Given the description of an element on the screen output the (x, y) to click on. 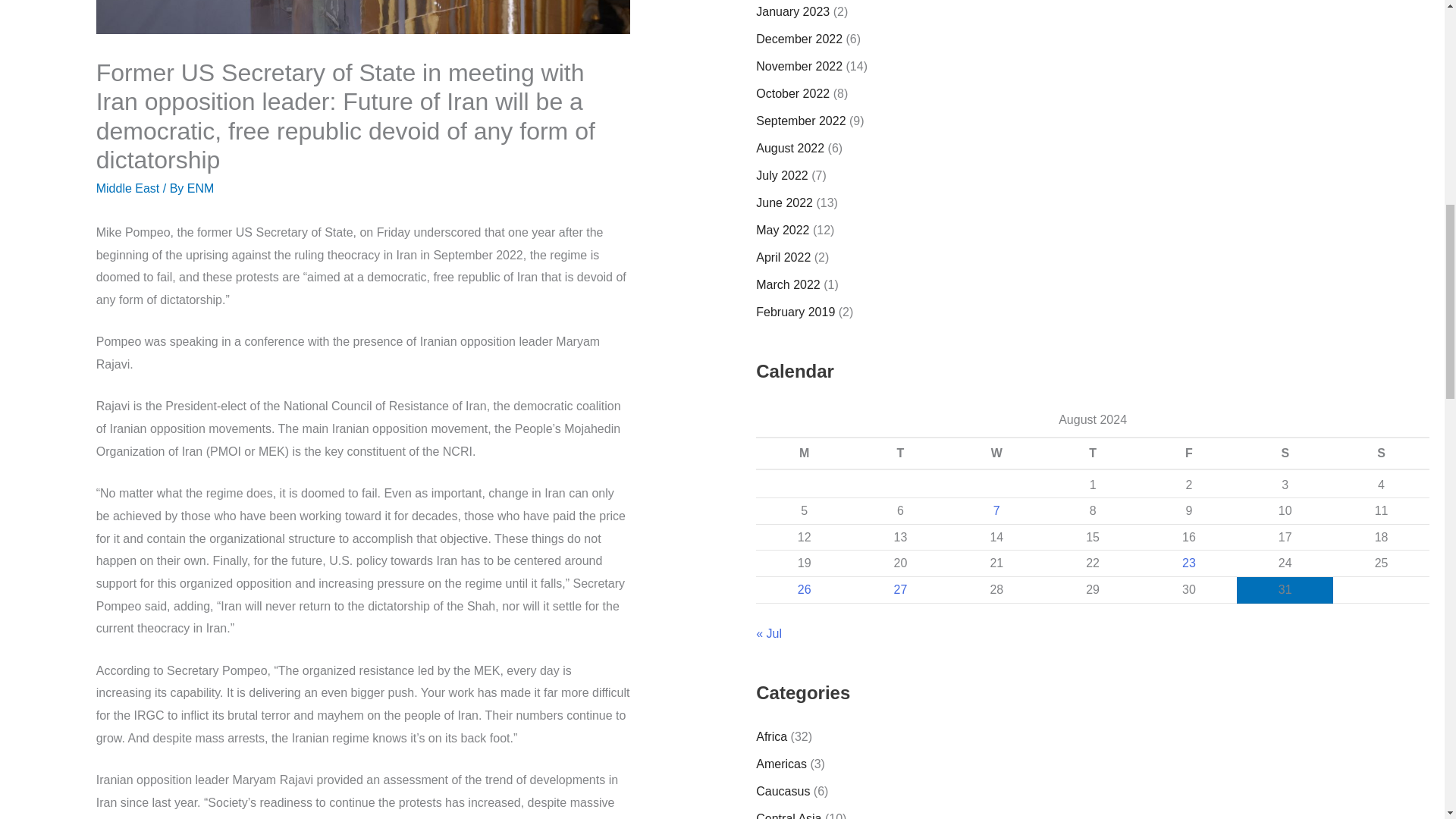
View all posts by ENM (200, 187)
November 2022 (799, 65)
Friday (1188, 453)
Middle East (128, 187)
December 2022 (799, 38)
October 2022 (792, 92)
ENM (200, 187)
September 2022 (800, 120)
August 2022 (789, 147)
Saturday (1284, 453)
